Given the description of an element on the screen output the (x, y) to click on. 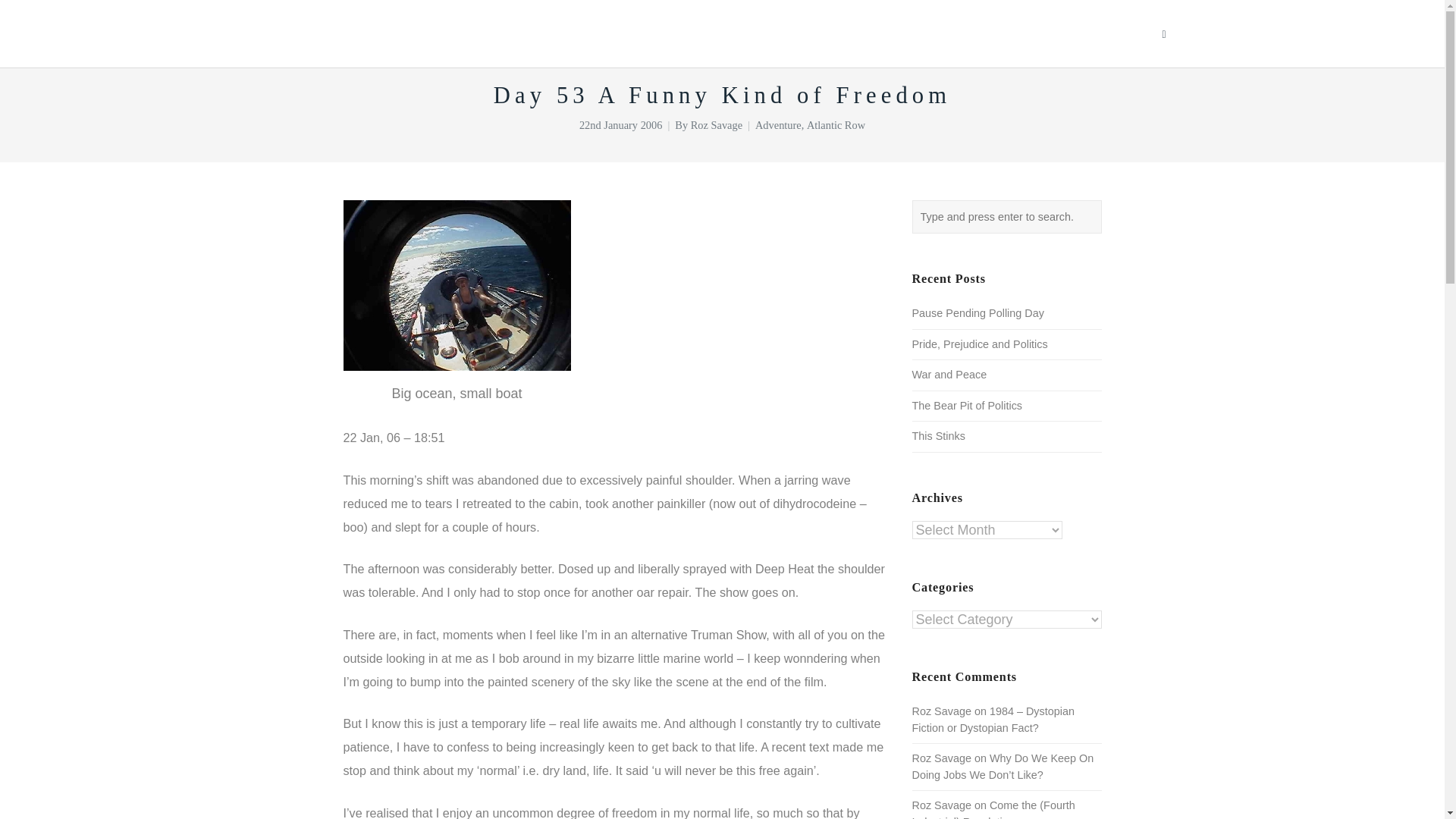
Podcast (966, 33)
Pride, Prejudice and Politics (978, 344)
Speaker (790, 33)
Pause Pending Polling Day (977, 313)
View all posts in Atlantic Row (835, 124)
View all posts in Adventure (778, 124)
Roz Savage (716, 124)
War and Peace (949, 374)
Atlantic Row (835, 124)
Adventure (778, 124)
